Given the description of an element on the screen output the (x, y) to click on. 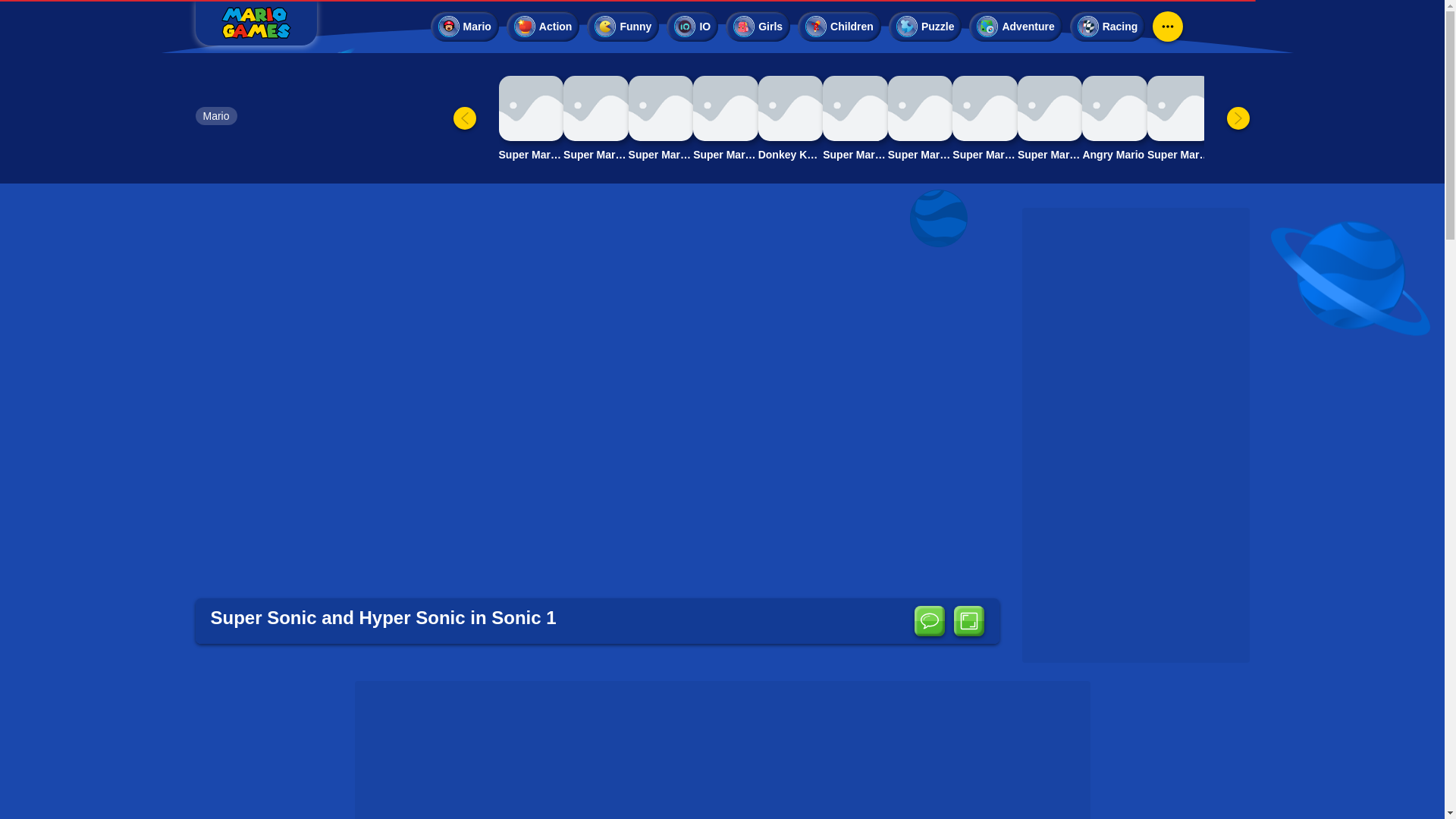
Mario (464, 26)
Racing (1107, 26)
IO (691, 26)
Mario (216, 116)
Mario (216, 116)
Action (542, 26)
Children (838, 26)
Adventure (1015, 26)
Puzzle (925, 26)
Funny (622, 26)
Girls (757, 26)
